Given the description of an element on the screen output the (x, y) to click on. 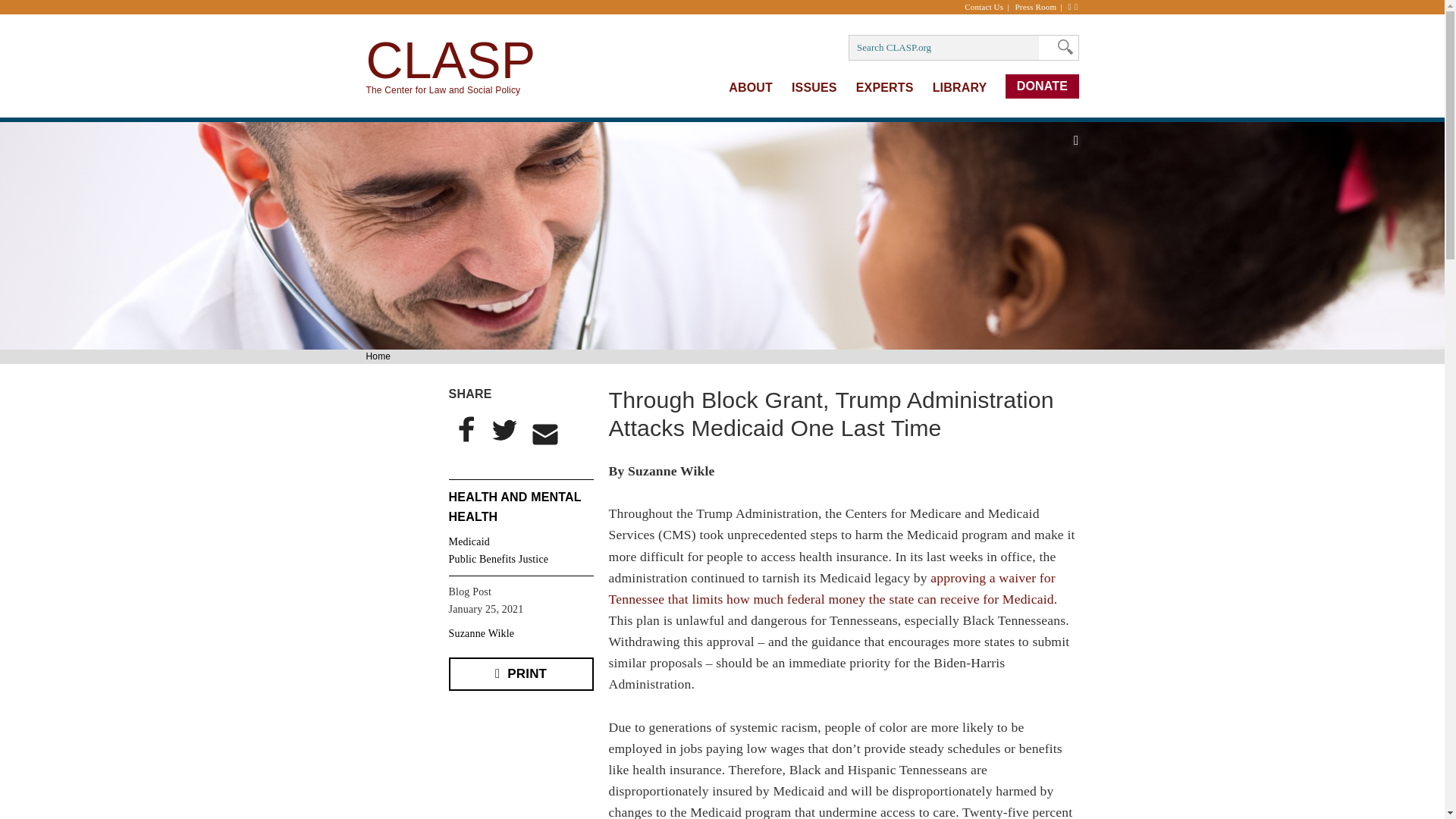
Twitter (502, 429)
CLASP (450, 59)
ABOUT (751, 87)
Press Room (1039, 6)
ISSUES (814, 87)
Contact Us (987, 6)
Press Room (1039, 6)
Display a printer-friendly version of this page. (521, 673)
Facebook (466, 429)
Search (1060, 47)
Email (545, 434)
CLASP (450, 59)
Contact Us (987, 6)
Search (1060, 47)
